Given the description of an element on the screen output the (x, y) to click on. 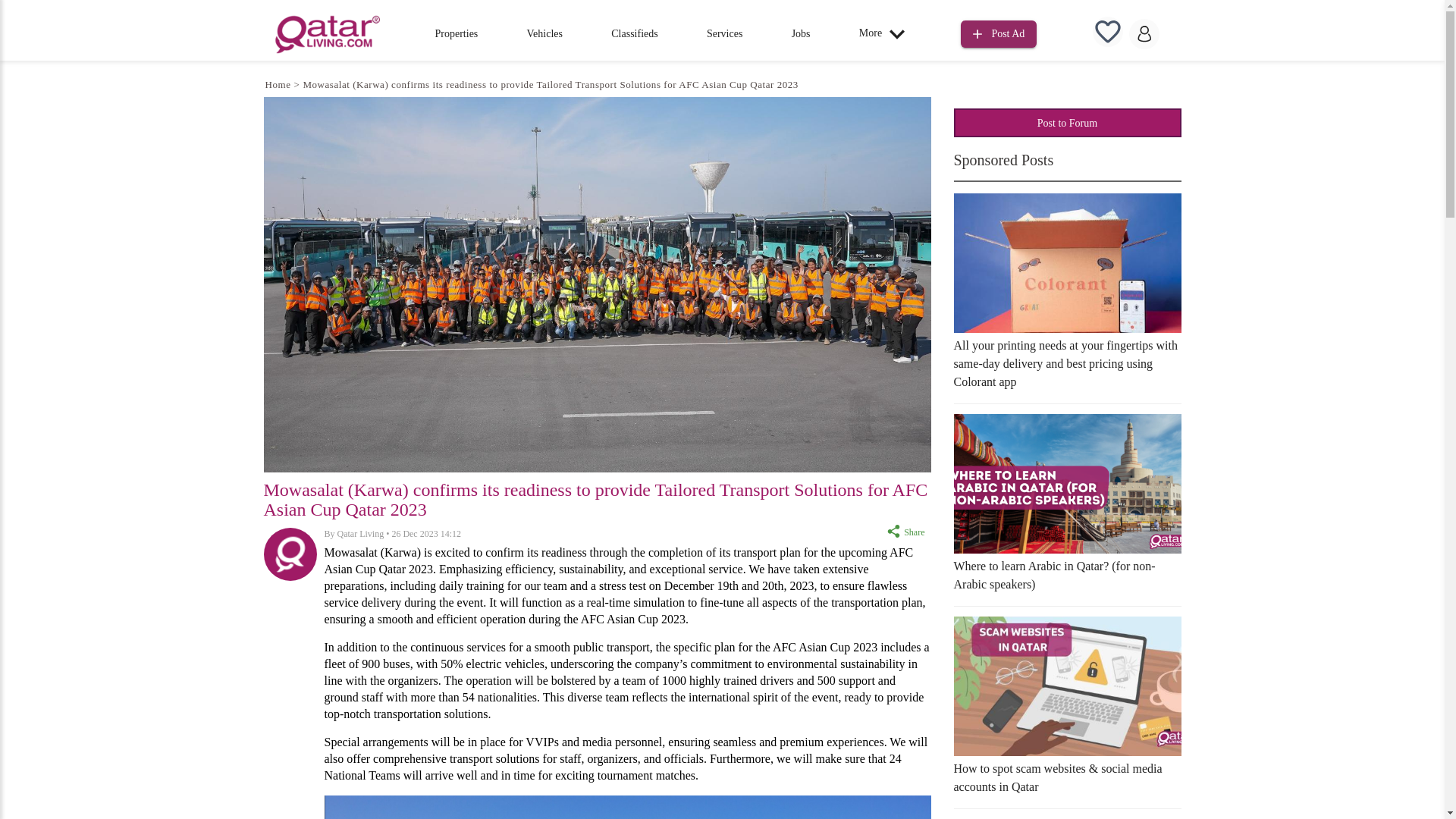
Classifieds (634, 33)
View user profile. (360, 533)
Post Ad (998, 34)
More (885, 33)
Post Ad (998, 32)
